Given the description of an element on the screen output the (x, y) to click on. 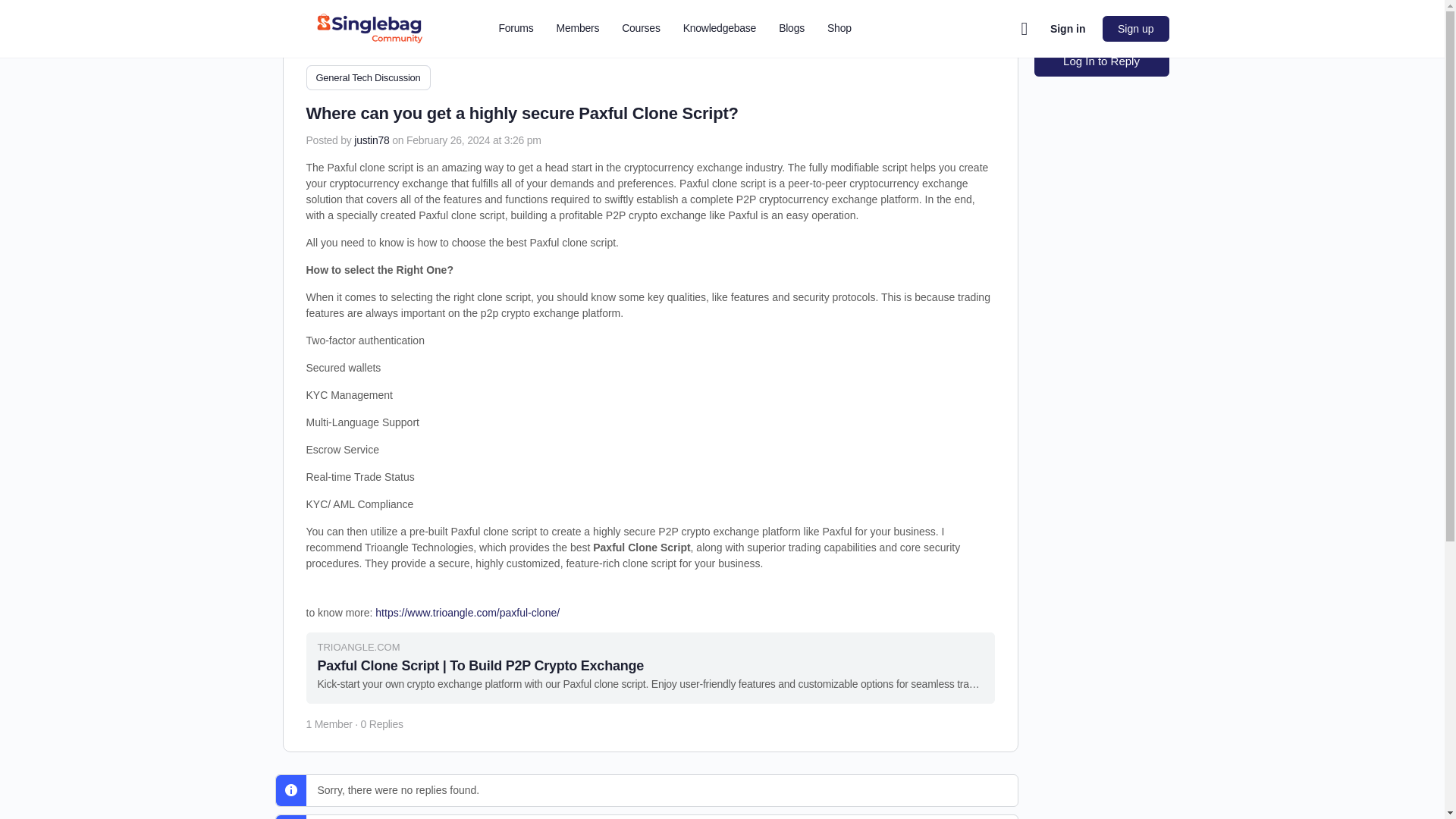
Knowledgebase (719, 28)
Sign up (1135, 28)
justin78 (370, 140)
General Tech Discussion (367, 77)
Members (577, 28)
Courses (640, 28)
Sign in (1067, 28)
View justin78's profile (370, 140)
